Given the description of an element on the screen output the (x, y) to click on. 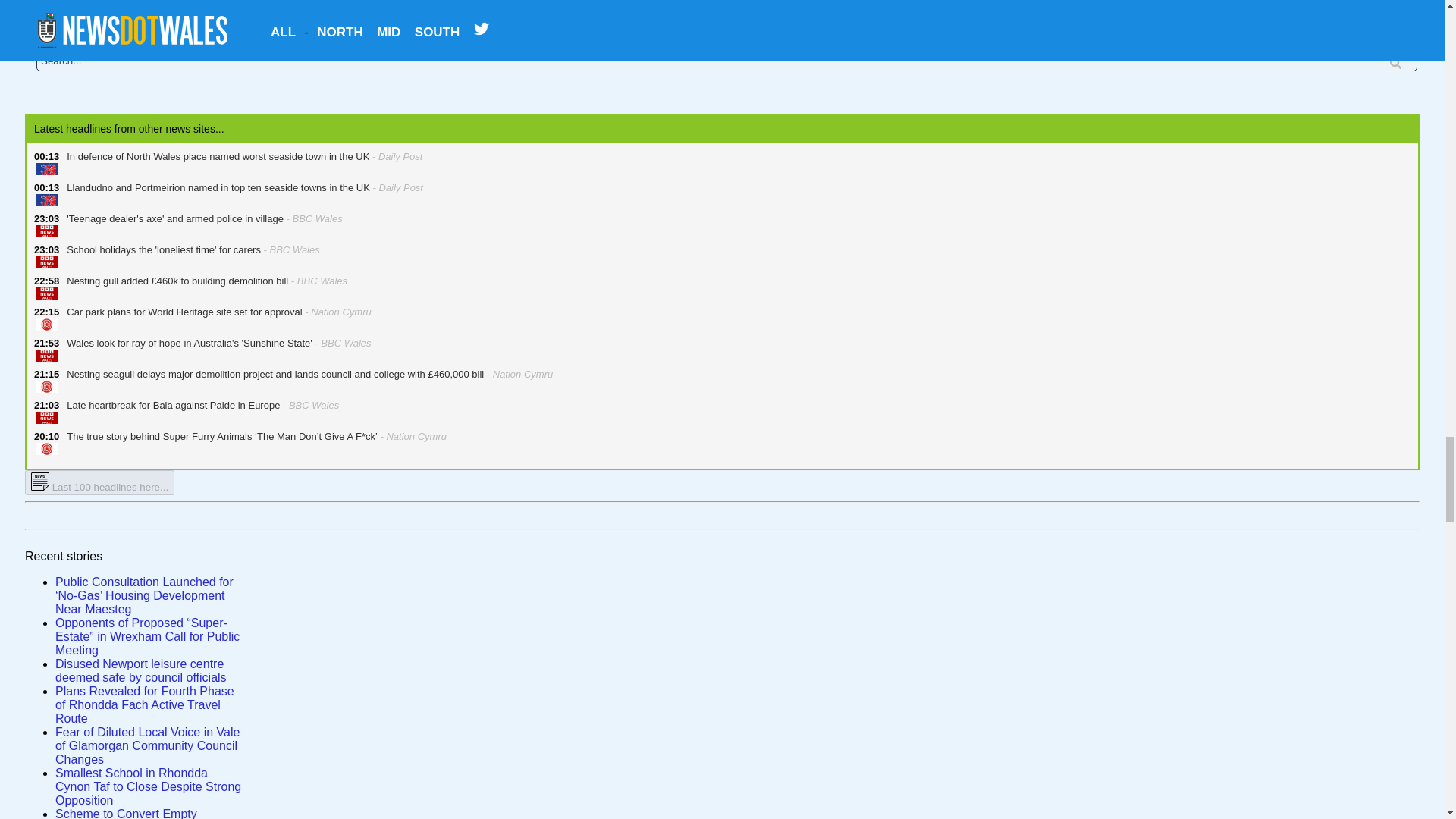
School holidays the 'loneliest time' for carers - BBC Wales (188, 257)
Last 100 headlines here... (99, 486)
Last 100 headlines here... (99, 482)
Late heartbreak for Bala against Paide in Europe - BBC Wales (199, 412)
